Given the description of an element on the screen output the (x, y) to click on. 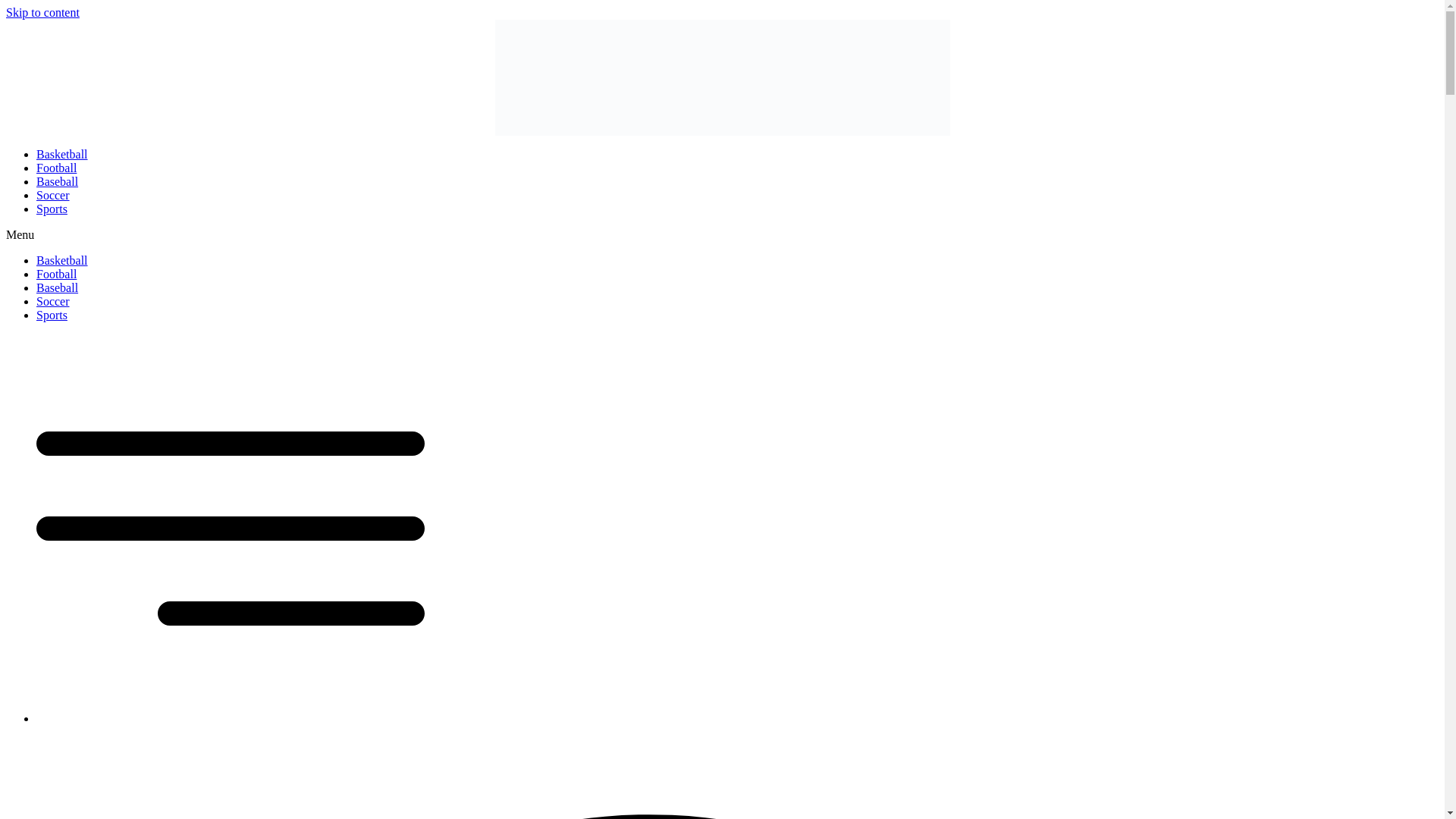
Baseball (57, 181)
Sports (51, 208)
Soccer (52, 300)
Football (56, 273)
Basketball (61, 259)
Baseball (57, 287)
Soccer (52, 195)
Sports (51, 314)
Basketball (61, 154)
Skip to content (42, 11)
